Given the description of an element on the screen output the (x, y) to click on. 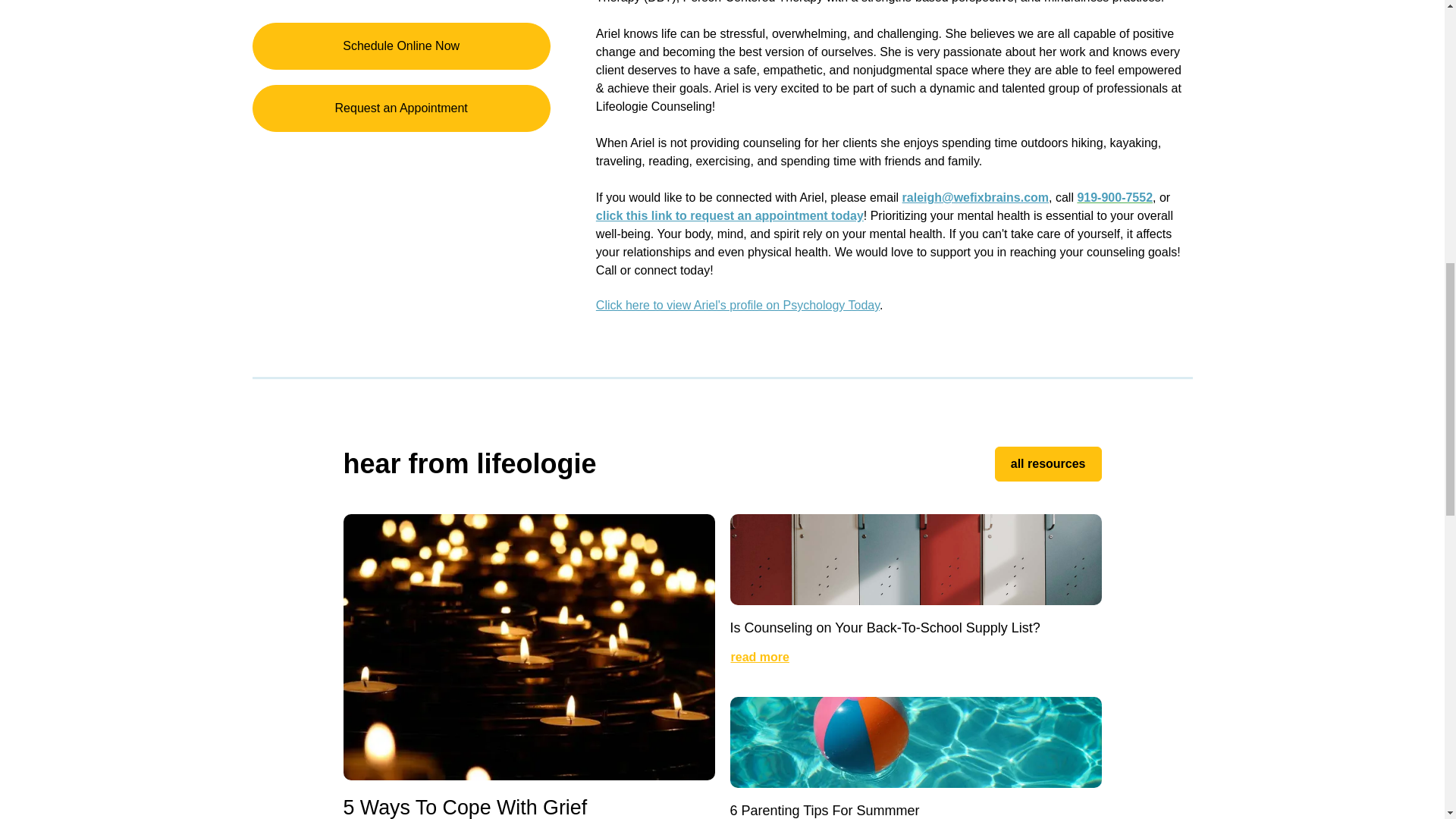
Click here to view Ariel's profile on Psychology Today (737, 305)
click this link to request an appointment today (729, 215)
919-900-7552 (1115, 196)
all resources (1048, 463)
